Given the description of an element on the screen output the (x, y) to click on. 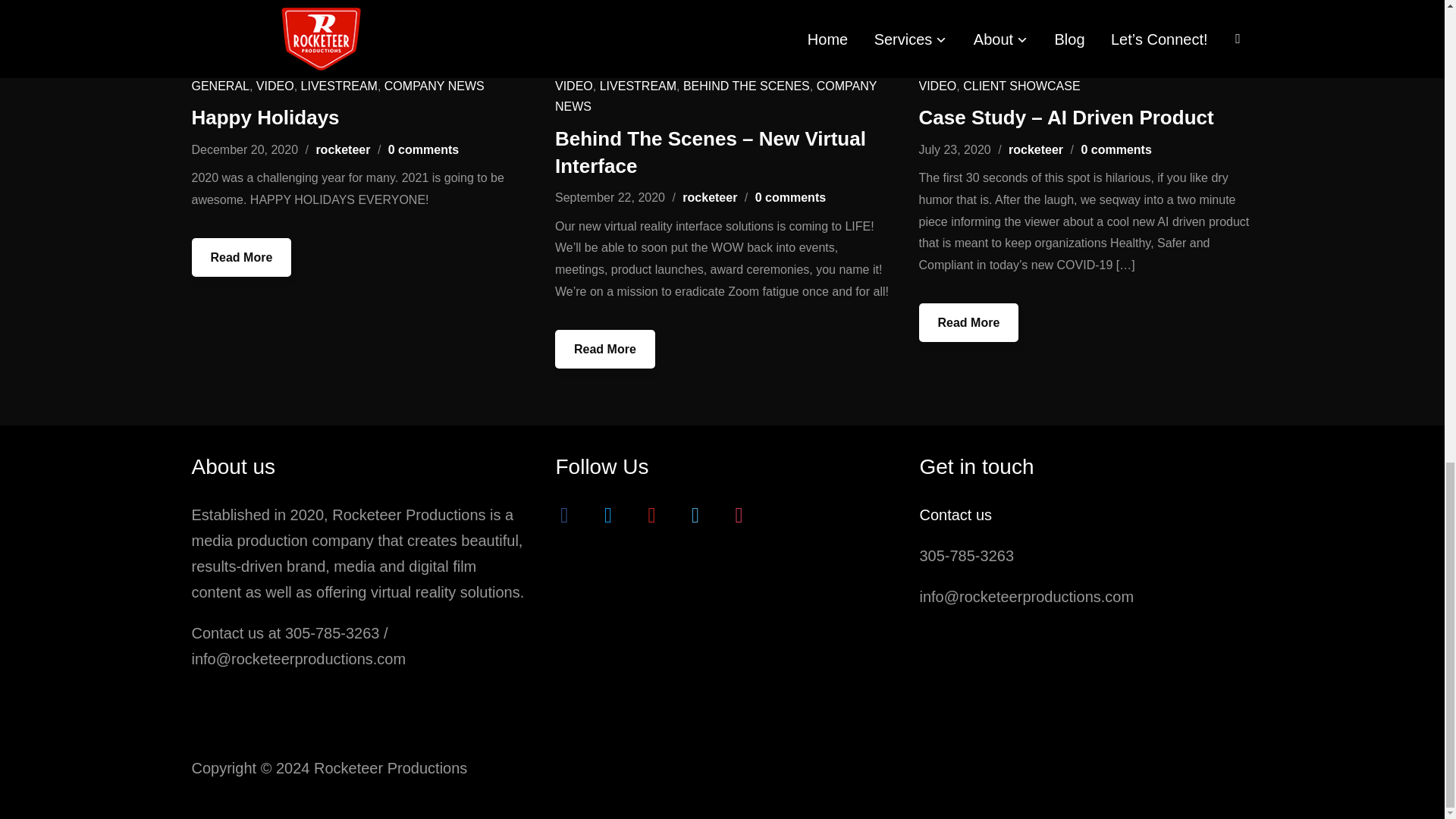
Follow Me (607, 514)
Posts by rocketeer (709, 196)
Posts by rocketeer (1035, 149)
Posts by rocketeer (342, 149)
Permalink to Happy Holidays (240, 257)
Friend me on Facebook (563, 514)
